Given the description of an element on the screen output the (x, y) to click on. 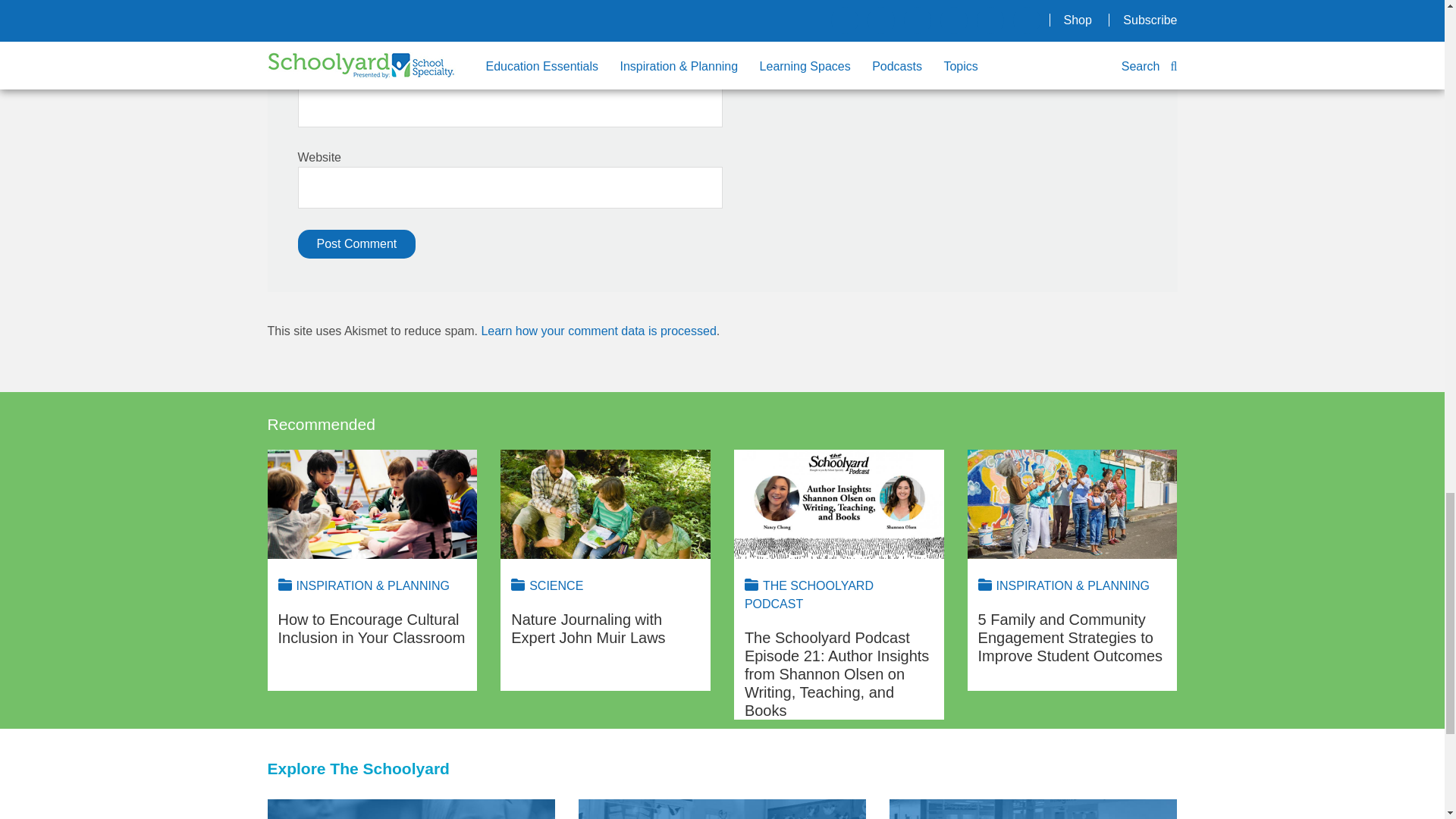
Post Comment (355, 244)
Learn how your comment data is processed (598, 330)
Nature Journaling with Expert John Muir Laws (605, 503)
How to Encourage Cultural Inclusion in Your Classroom (371, 503)
Post Comment (355, 244)
